Given the description of an element on the screen output the (x, y) to click on. 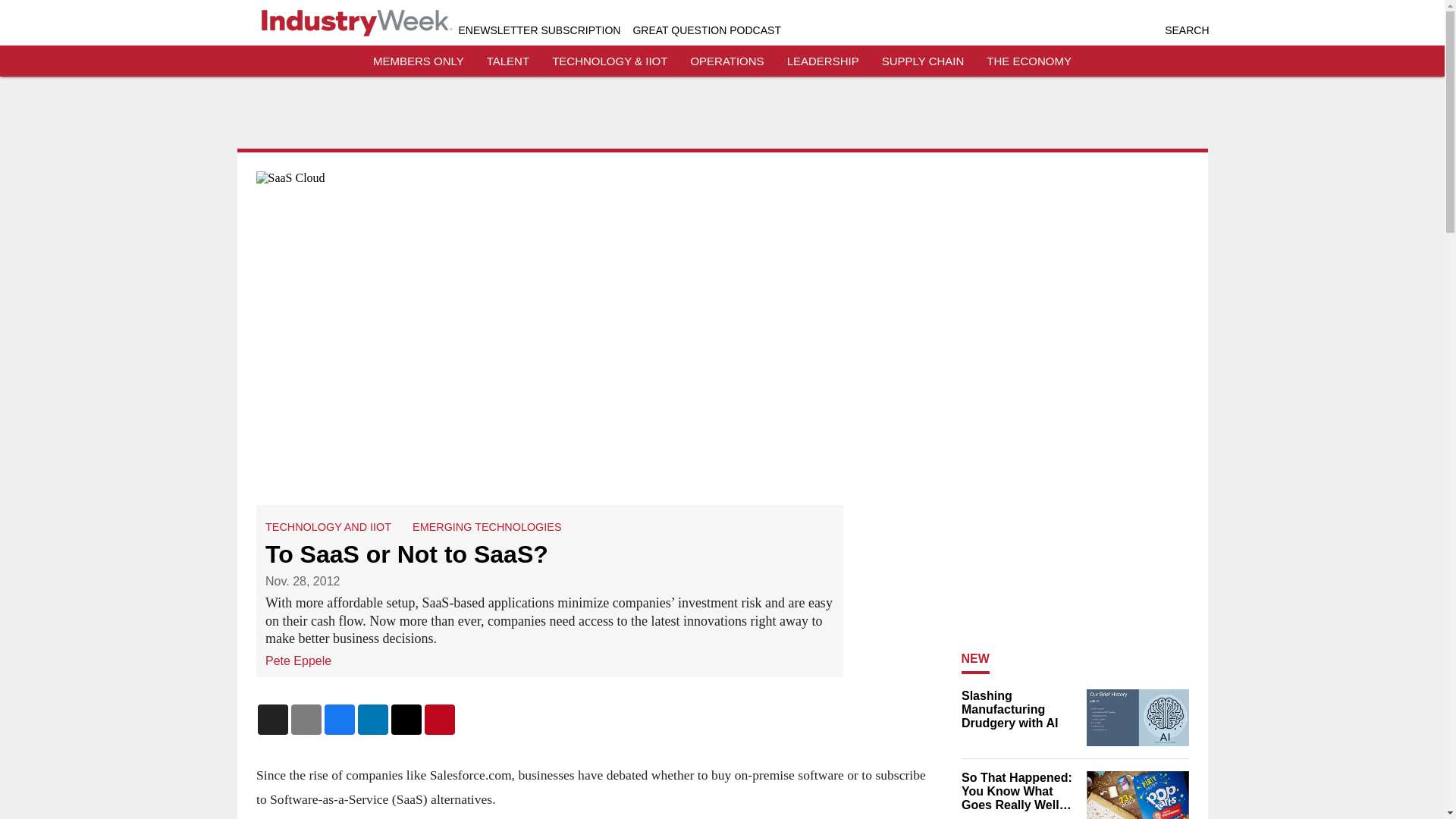
GREAT QUESTION PODCAST (705, 30)
Pete Eppele (297, 659)
TALENT (507, 60)
SUPPLY CHAIN (922, 60)
LEADERSHIP (823, 60)
SEARCH (1186, 30)
OPERATIONS (726, 60)
Slashing Manufacturing Drudgery with AI (1019, 709)
THE ECONOMY (1029, 60)
